Given the description of an element on the screen output the (x, y) to click on. 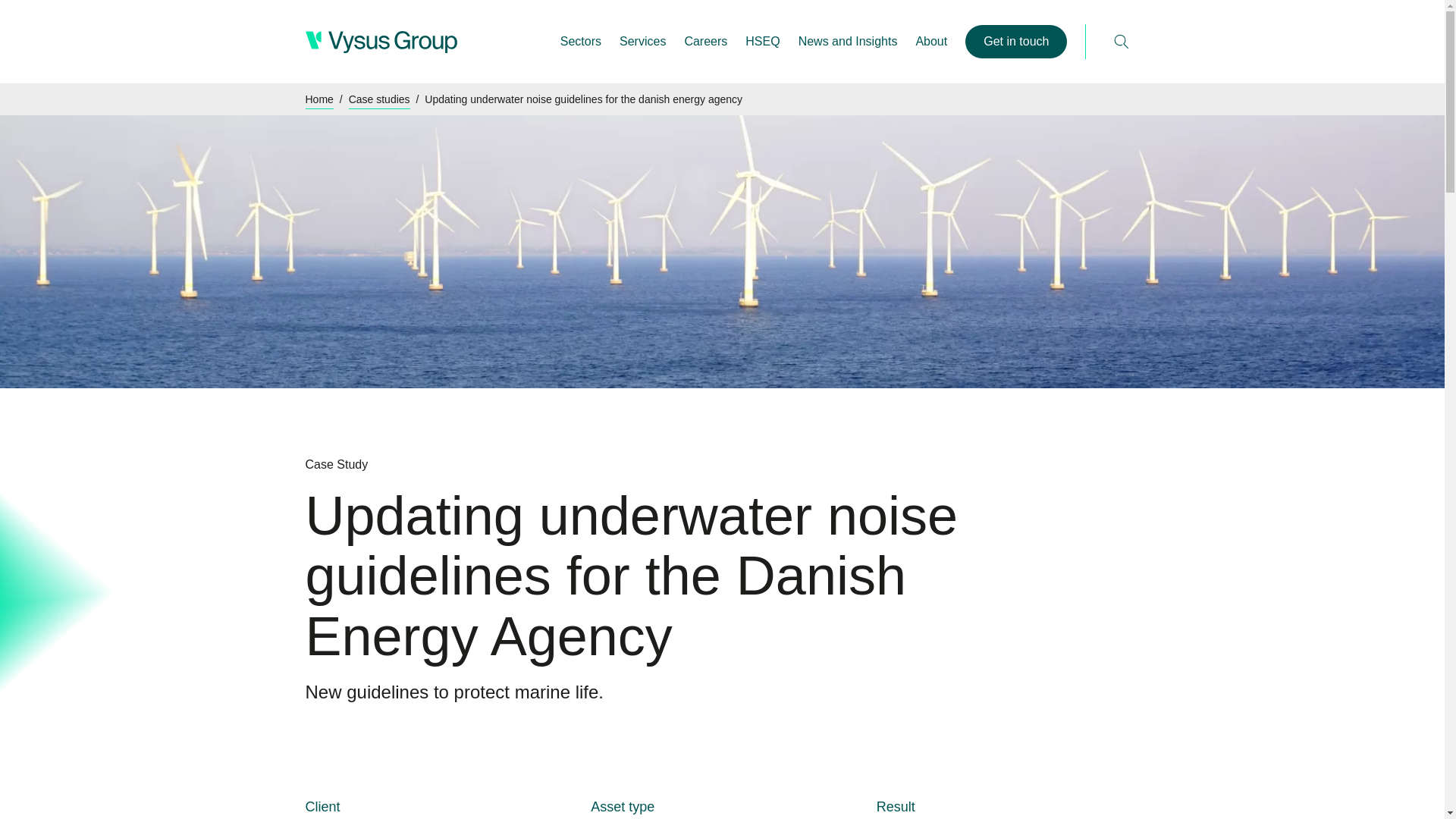
Get in touch (1016, 41)
News and Insights (847, 41)
About (931, 41)
Careers (705, 41)
Services (642, 41)
Open the search (1120, 41)
Sectors (580, 41)
HSEQ (761, 41)
